Given the description of an element on the screen output the (x, y) to click on. 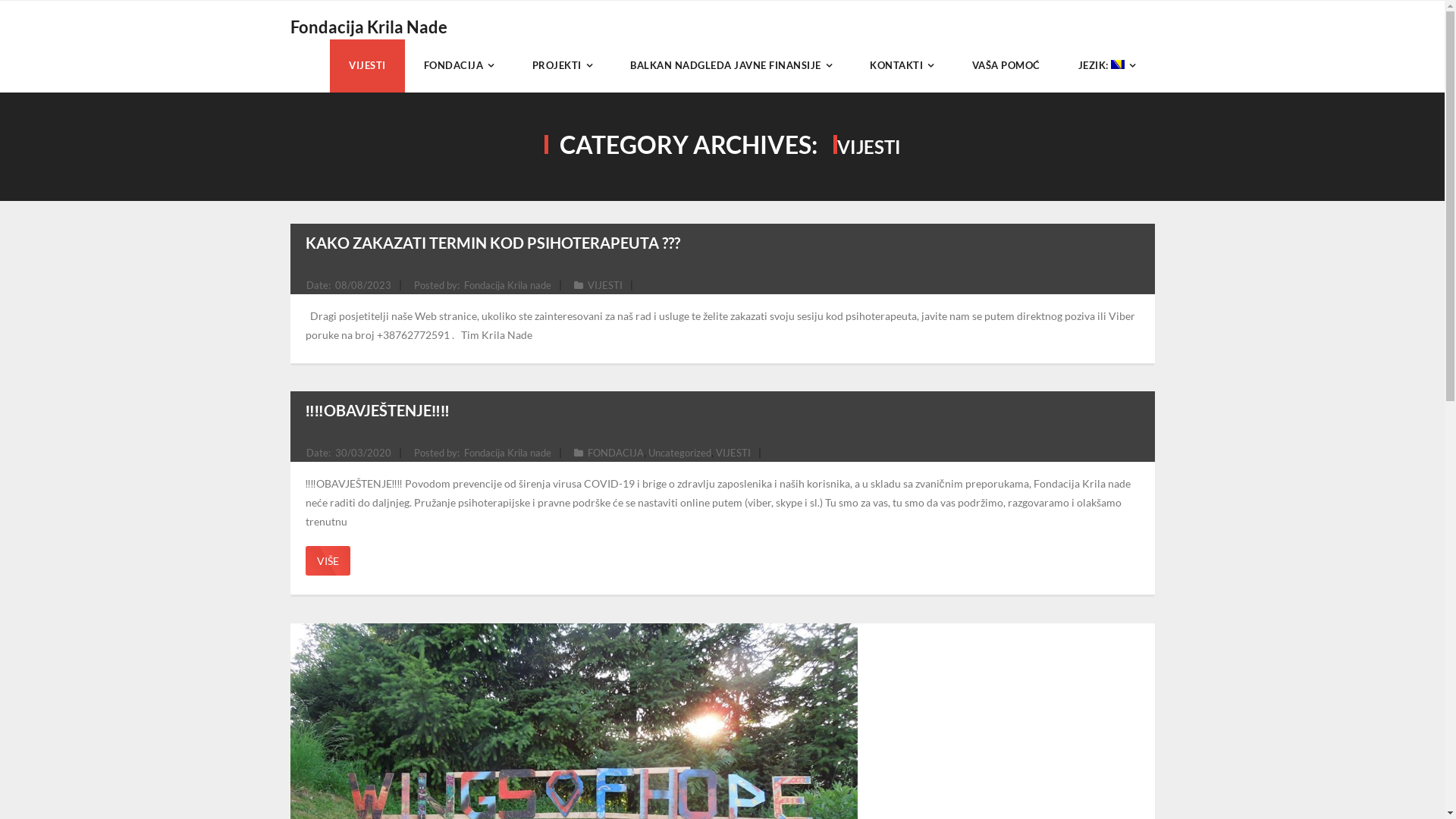
KAKO ZAKAZATI TERMIN KOD PSIHOTERAPEUTA ??? Element type: text (491, 242)
VIJESTI Element type: text (366, 65)
Uncategorized Element type: text (678, 452)
Fondacija Krila nade Element type: text (507, 452)
08/08/2023 Element type: text (363, 285)
FONDACIJA Element type: text (614, 452)
KONTAKTI Element type: text (901, 65)
Fondacija Krila Nade Element type: text (367, 27)
VIJESTI Element type: text (732, 452)
PROJEKTI Element type: text (561, 65)
VIJESTI Element type: text (603, 285)
30/03/2020 Element type: text (363, 452)
BALKAN NADGLEDA JAVNE FINANSIJE Element type: text (730, 65)
Fondacija Krila nade Element type: text (507, 285)
JEZIK:  Element type: text (1106, 65)
FONDACIJA Element type: text (458, 65)
